Given the description of an element on the screen output the (x, y) to click on. 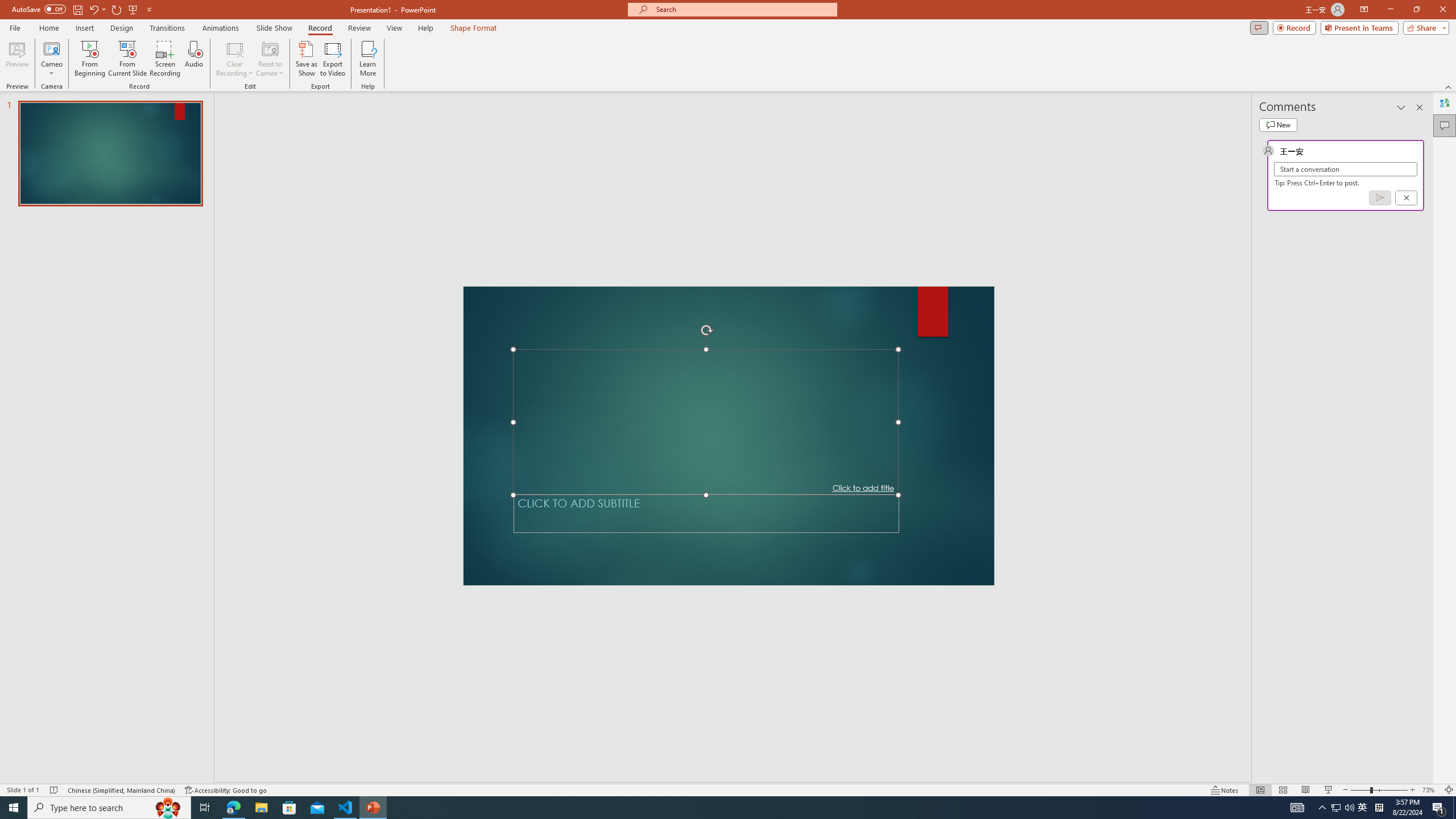
More Options (953, 106)
Close (1435, 18)
Share (1426, 47)
View Side by Side (777, 72)
AutomationID: DynamicSearchBoxGleamImage (647, 800)
